Given the description of an element on the screen output the (x, y) to click on. 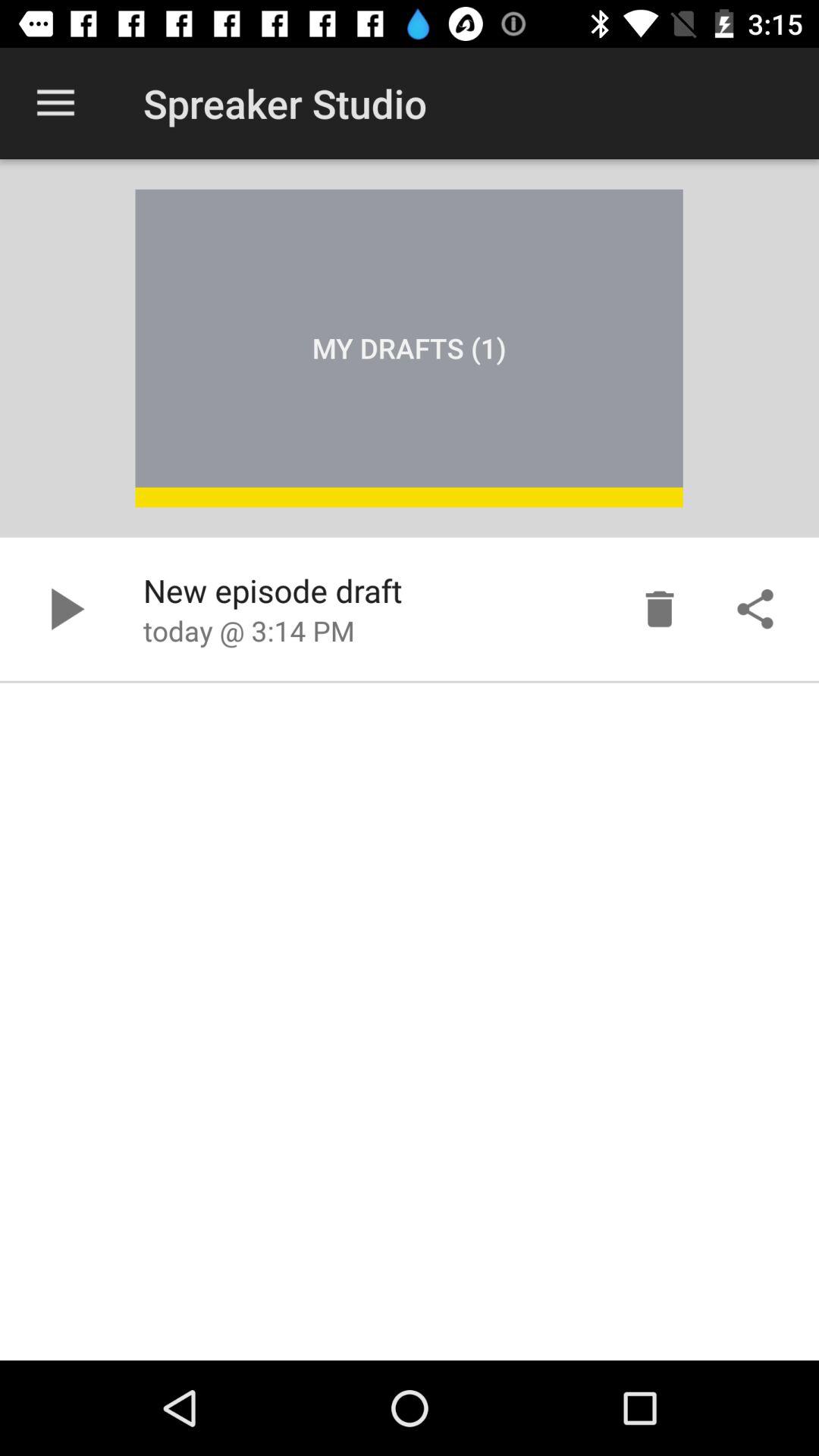
choose app to the left of spreaker studio icon (55, 103)
